Given the description of an element on the screen output the (x, y) to click on. 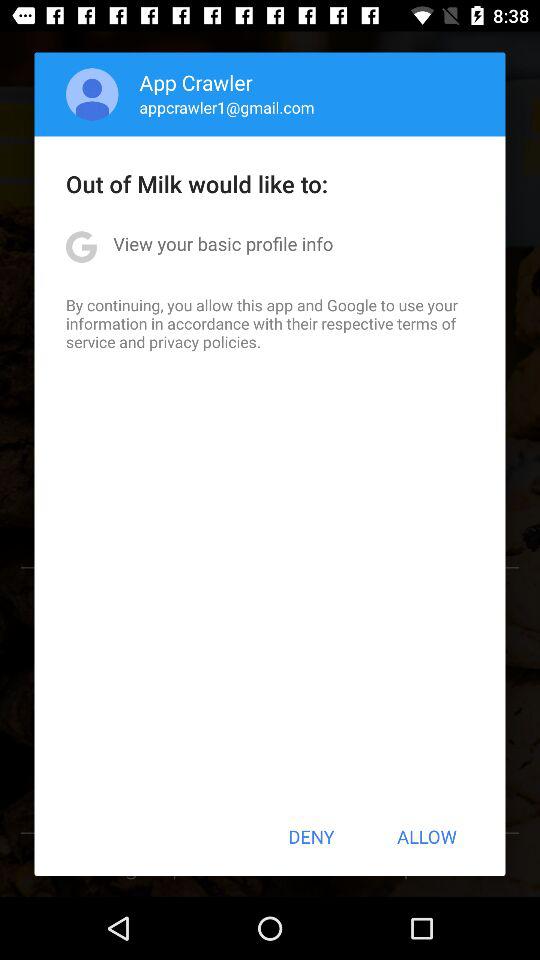
select icon next to the allow item (311, 836)
